Given the description of an element on the screen output the (x, y) to click on. 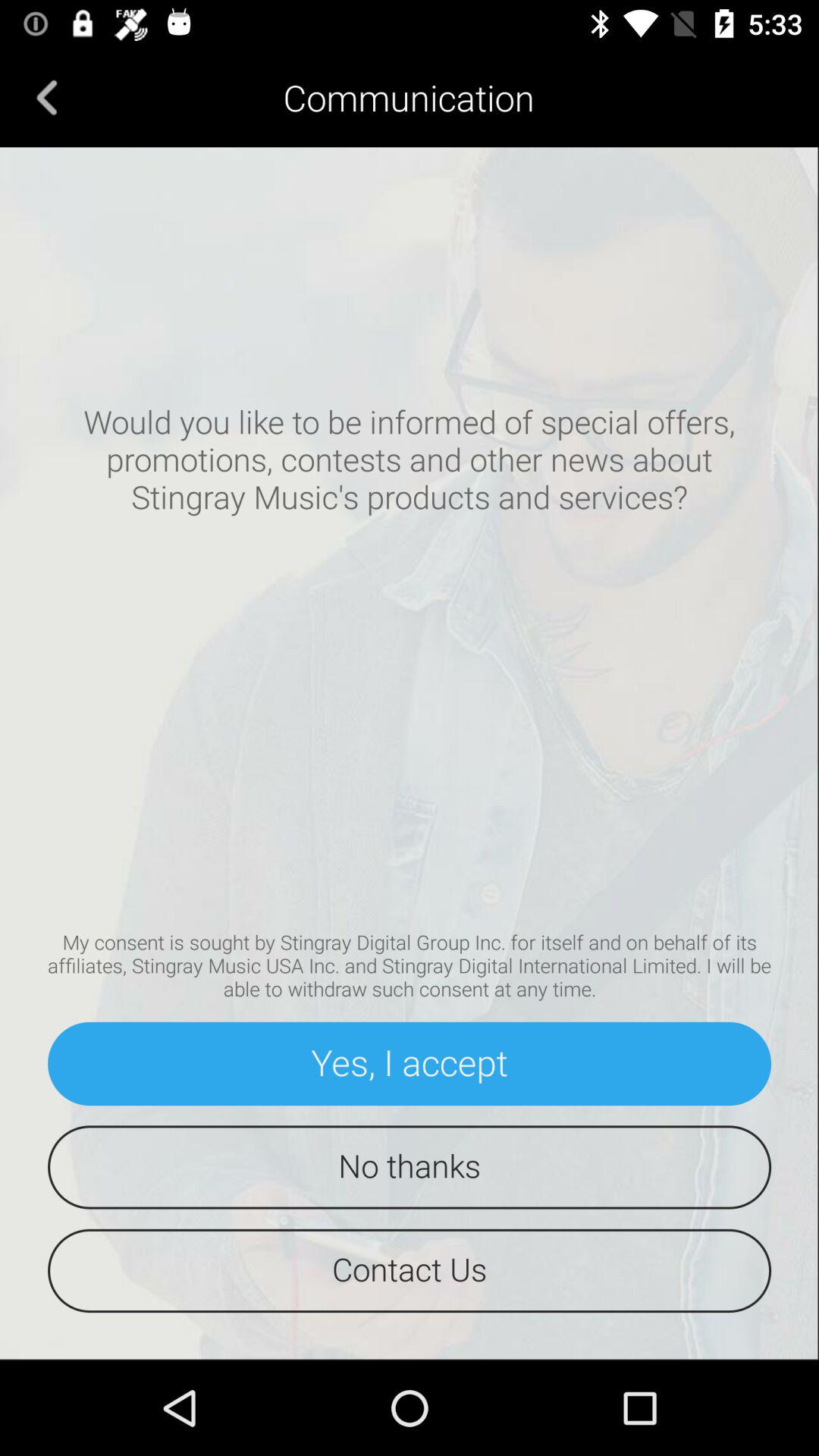
swipe to the contact us icon (409, 1270)
